Given the description of an element on the screen output the (x, y) to click on. 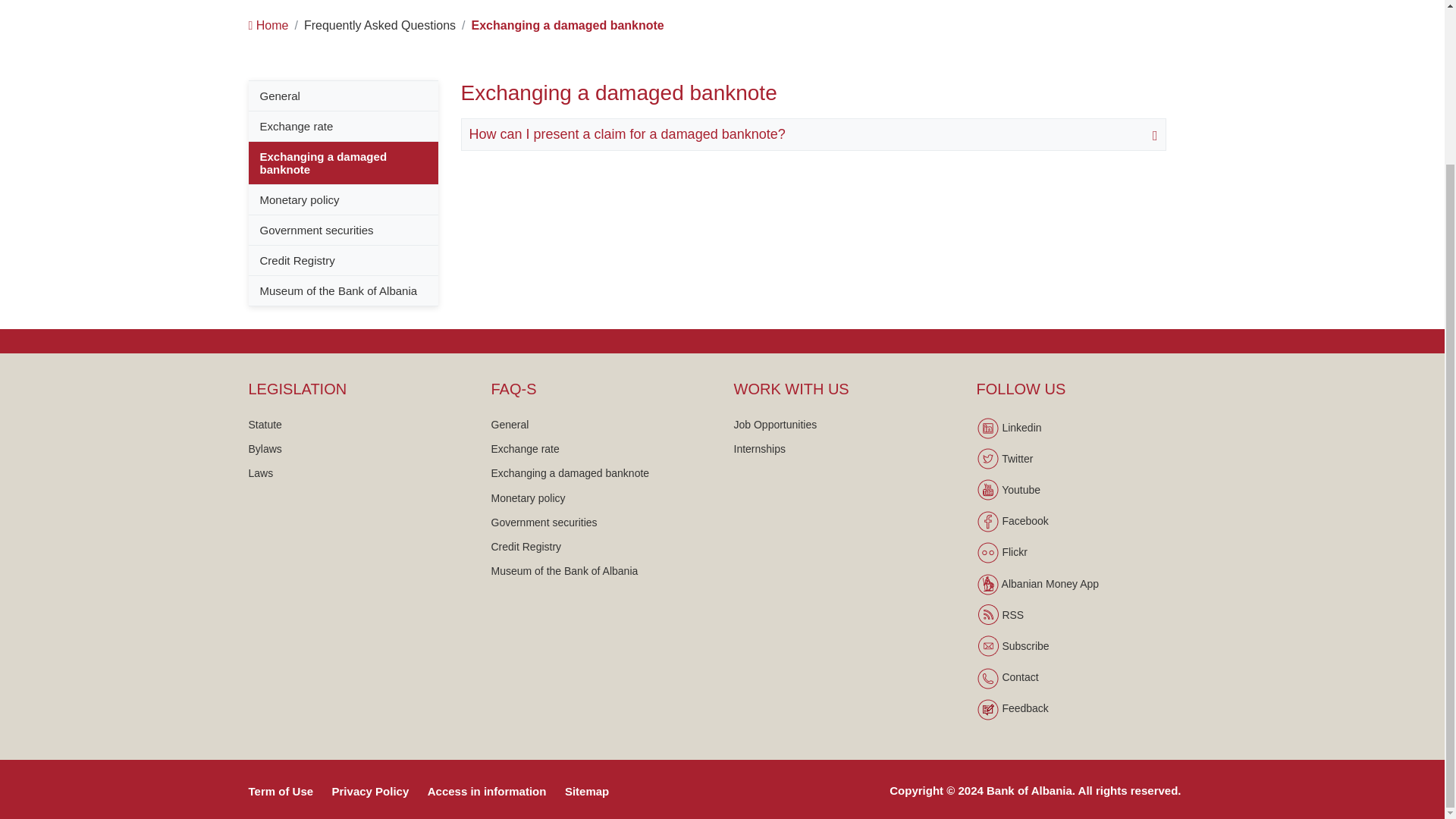
Government  securities (544, 522)
Laws (260, 472)
Exchange rate (525, 449)
Statute (265, 424)
Monetary policy (529, 498)
Privacy Policy (378, 790)
Access in information (495, 790)
Exchanging a damaged banknote (570, 472)
Working for the Bank of Albania (774, 424)
Term of Use (288, 790)
